Given the description of an element on the screen output the (x, y) to click on. 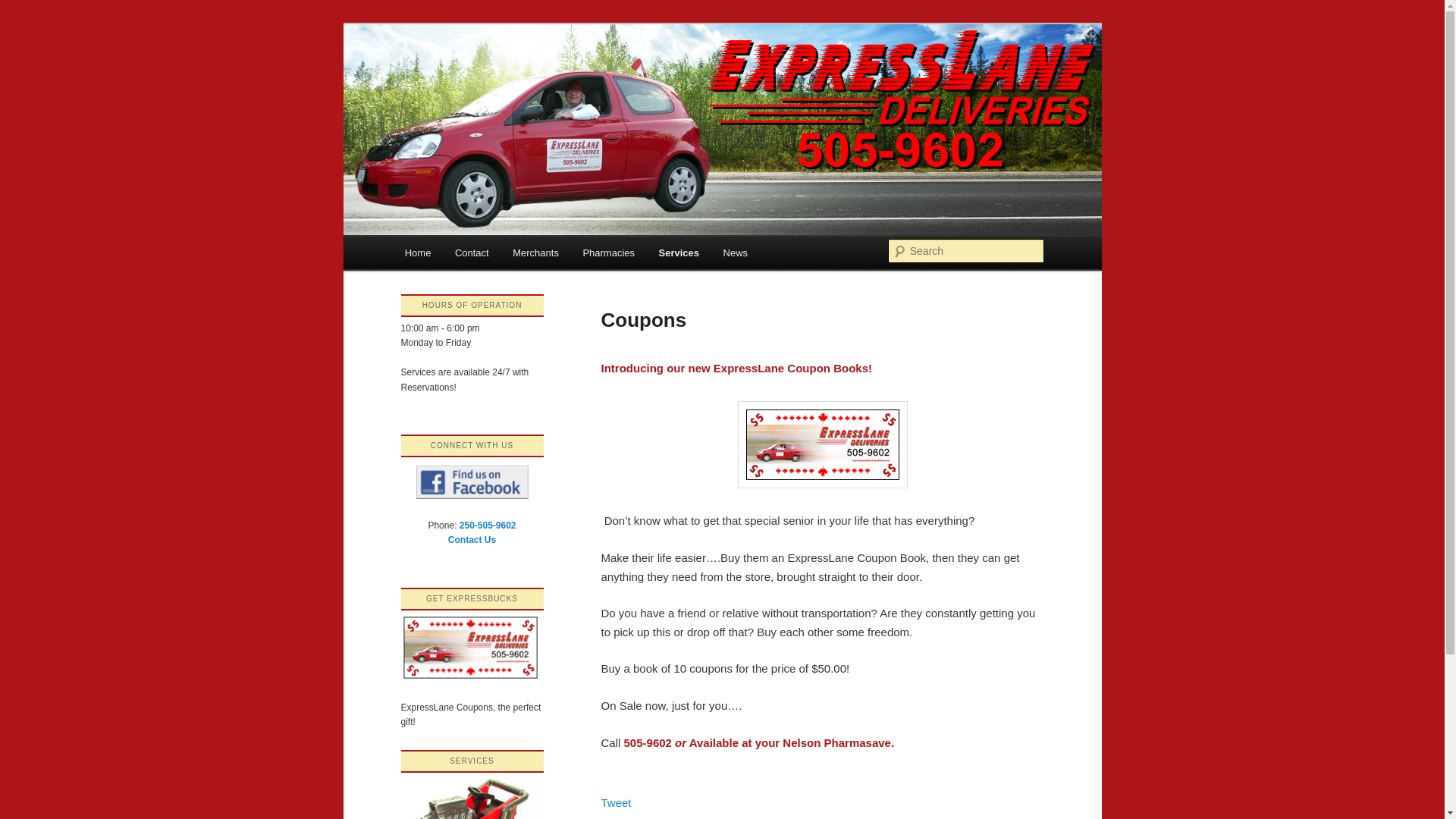
Expresslane Deliveries (523, 78)
Contact Us (472, 539)
News (735, 252)
Pharmacies (608, 252)
Tweet (614, 802)
Search (24, 8)
Home (417, 252)
Services (678, 252)
Merchants (535, 252)
Contact (471, 252)
250-505-9602 (488, 525)
